Given the description of an element on the screen output the (x, y) to click on. 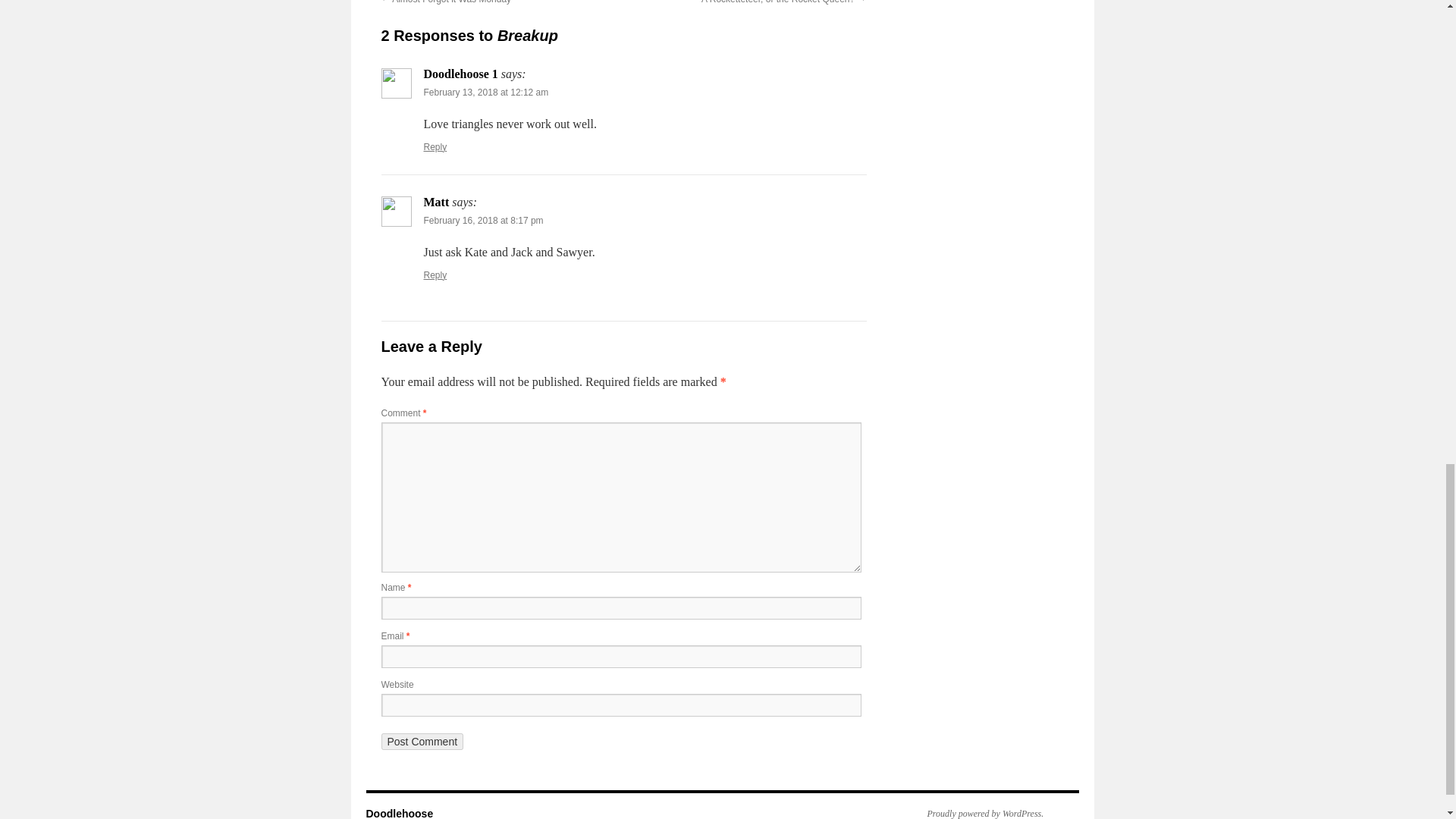
Post Comment (421, 741)
Post Comment (421, 741)
Reply (434, 146)
February 16, 2018 at 8:17 pm (483, 220)
February 13, 2018 at 12:12 am (485, 91)
Reply (434, 275)
